Given the description of an element on the screen output the (x, y) to click on. 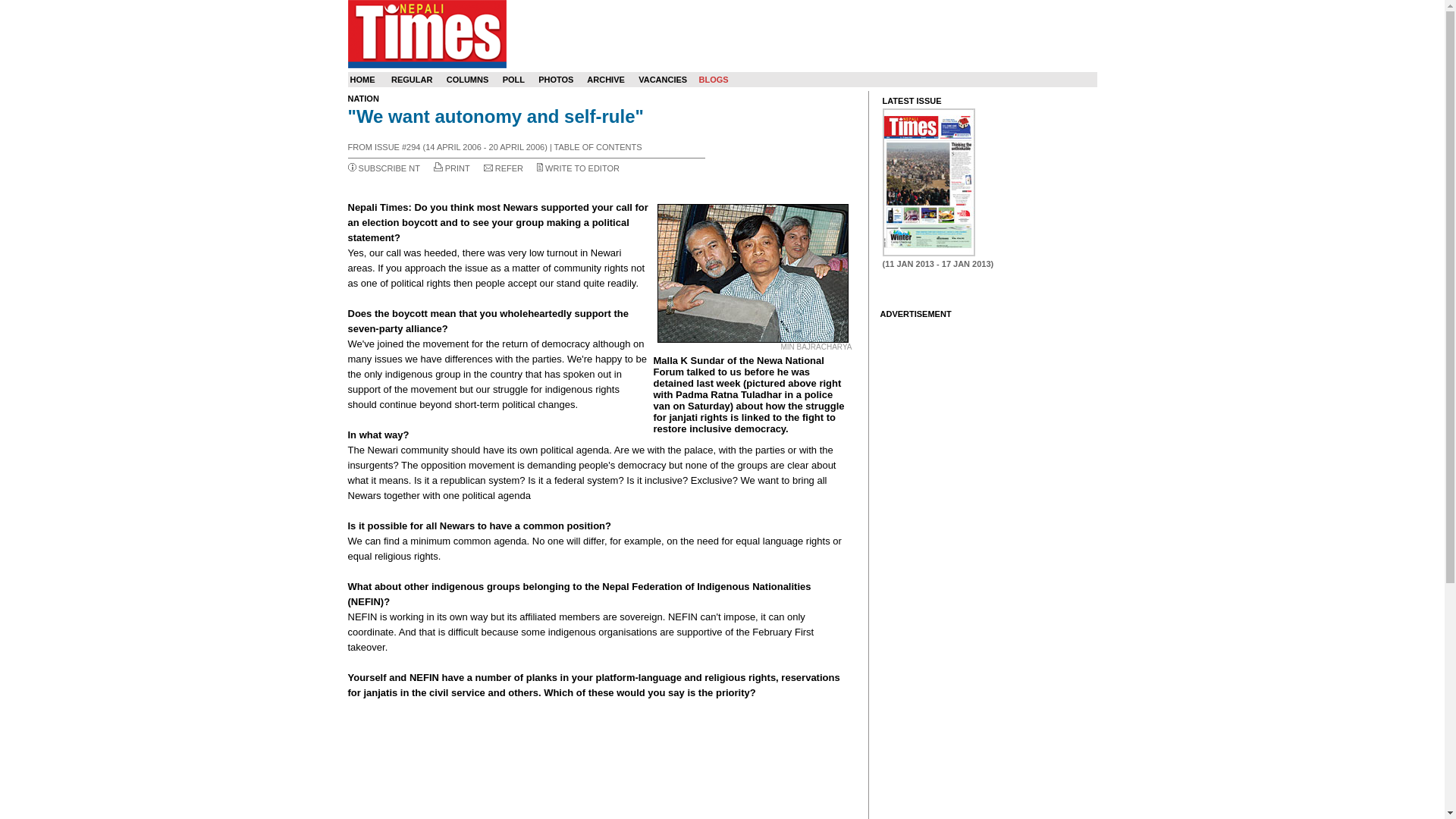
WRITE TO EDITOR (582, 167)
COLUMNS (467, 79)
REGULAR (411, 79)
BLOGS (713, 79)
REFER (508, 167)
ARCHIVE (605, 79)
TABLE OF CONTENTS (598, 146)
VACANCIES (663, 79)
Nepali Times (426, 33)
SUBSCRIBE NT (389, 167)
POLL (513, 79)
PRINT (458, 167)
PHOTOS (555, 79)
Advertisement (601, 760)
HOME (362, 79)
